Given the description of an element on the screen output the (x, y) to click on. 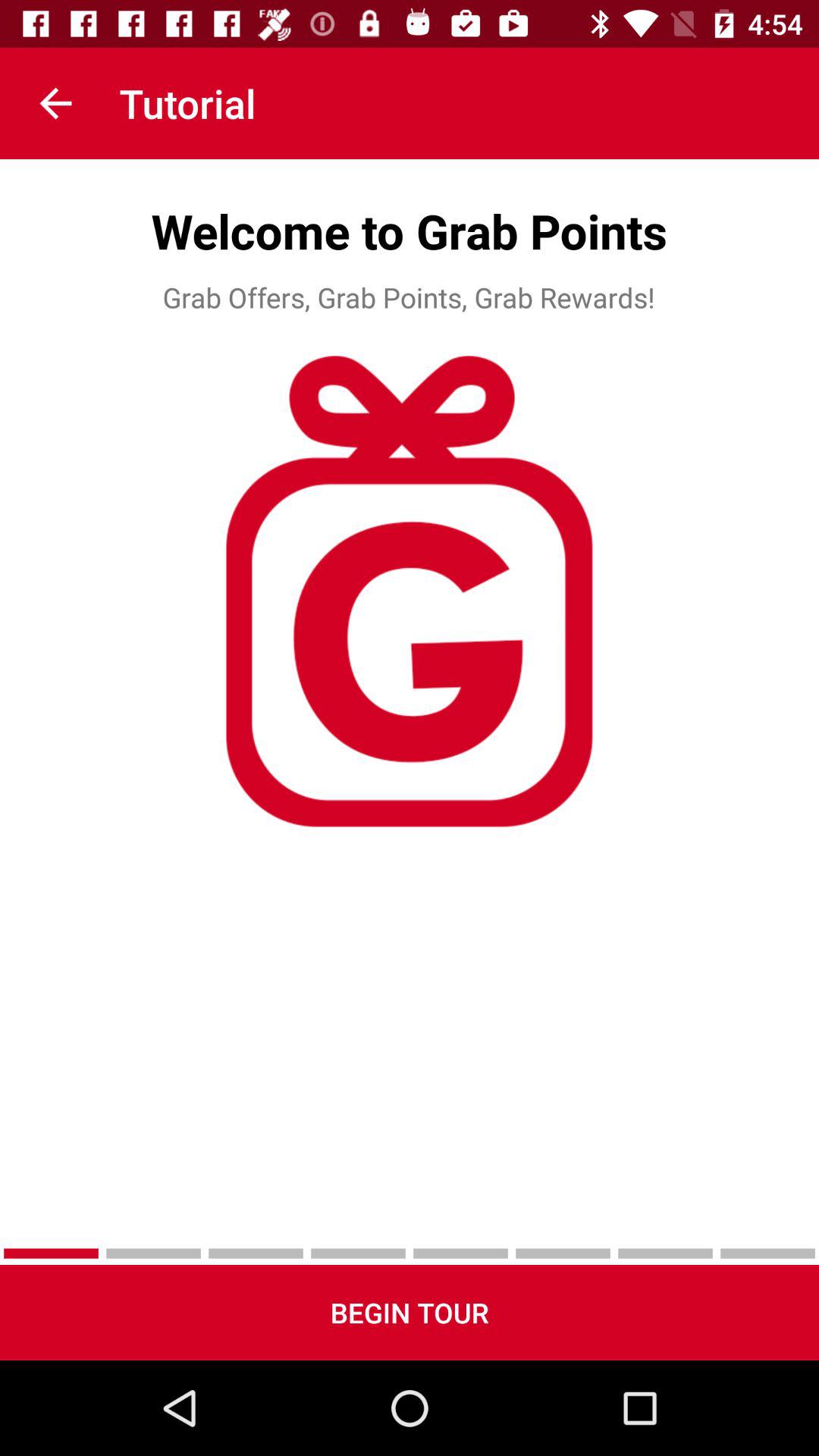
select the icon to the left of the tutorial app (55, 103)
